Given the description of an element on the screen output the (x, y) to click on. 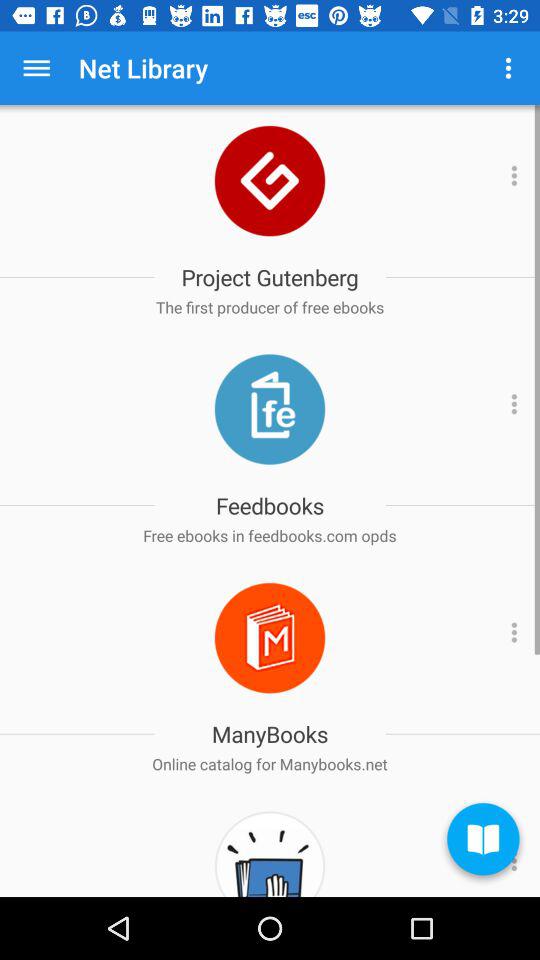
choose the item below manybooks (270, 763)
